Given the description of an element on the screen output the (x, y) to click on. 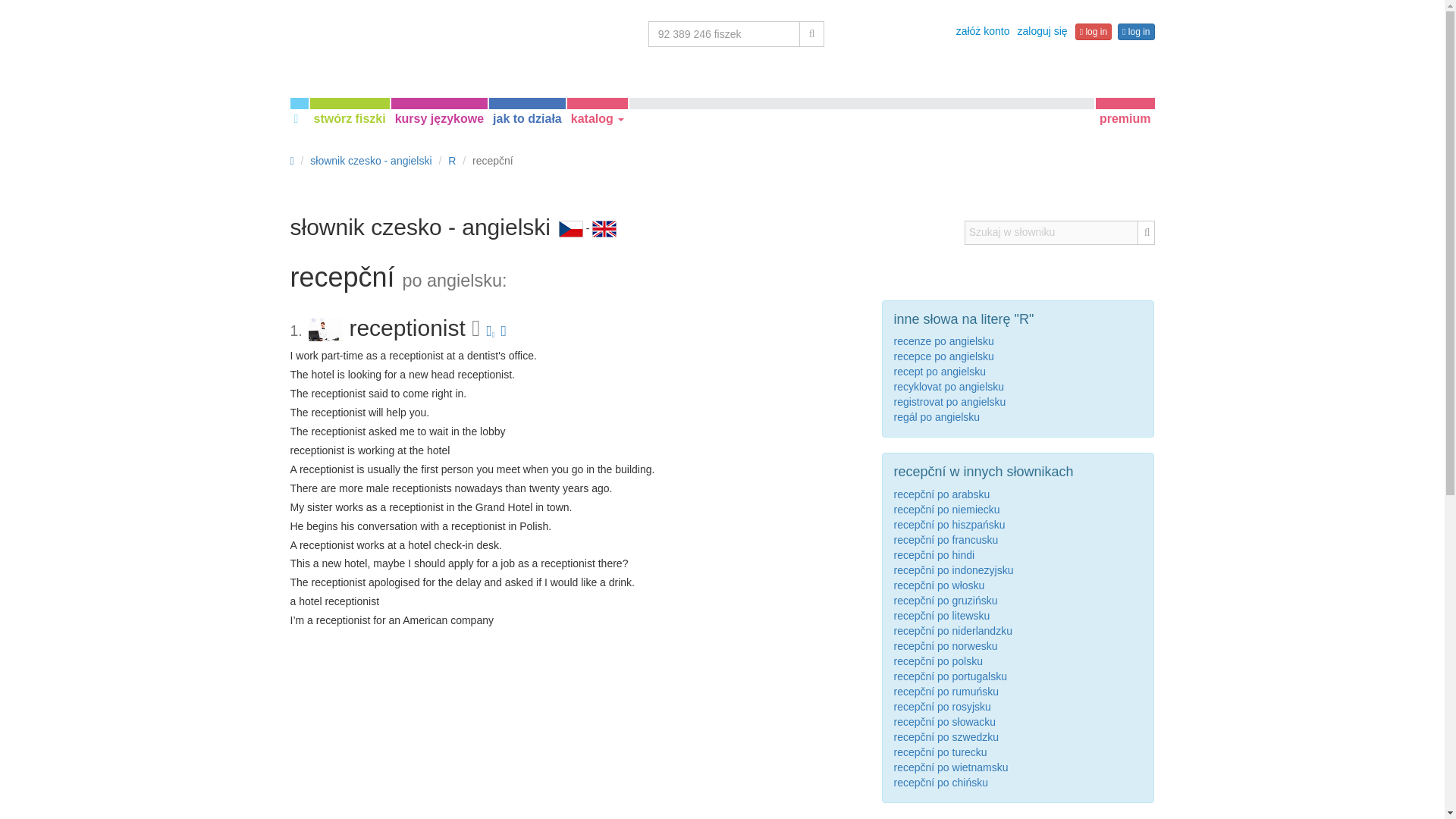
log in (1136, 31)
log in (1093, 31)
katalog (597, 117)
Fiszkoteka - fiszki to skuteczna nauka (379, 42)
